Given the description of an element on the screen output the (x, y) to click on. 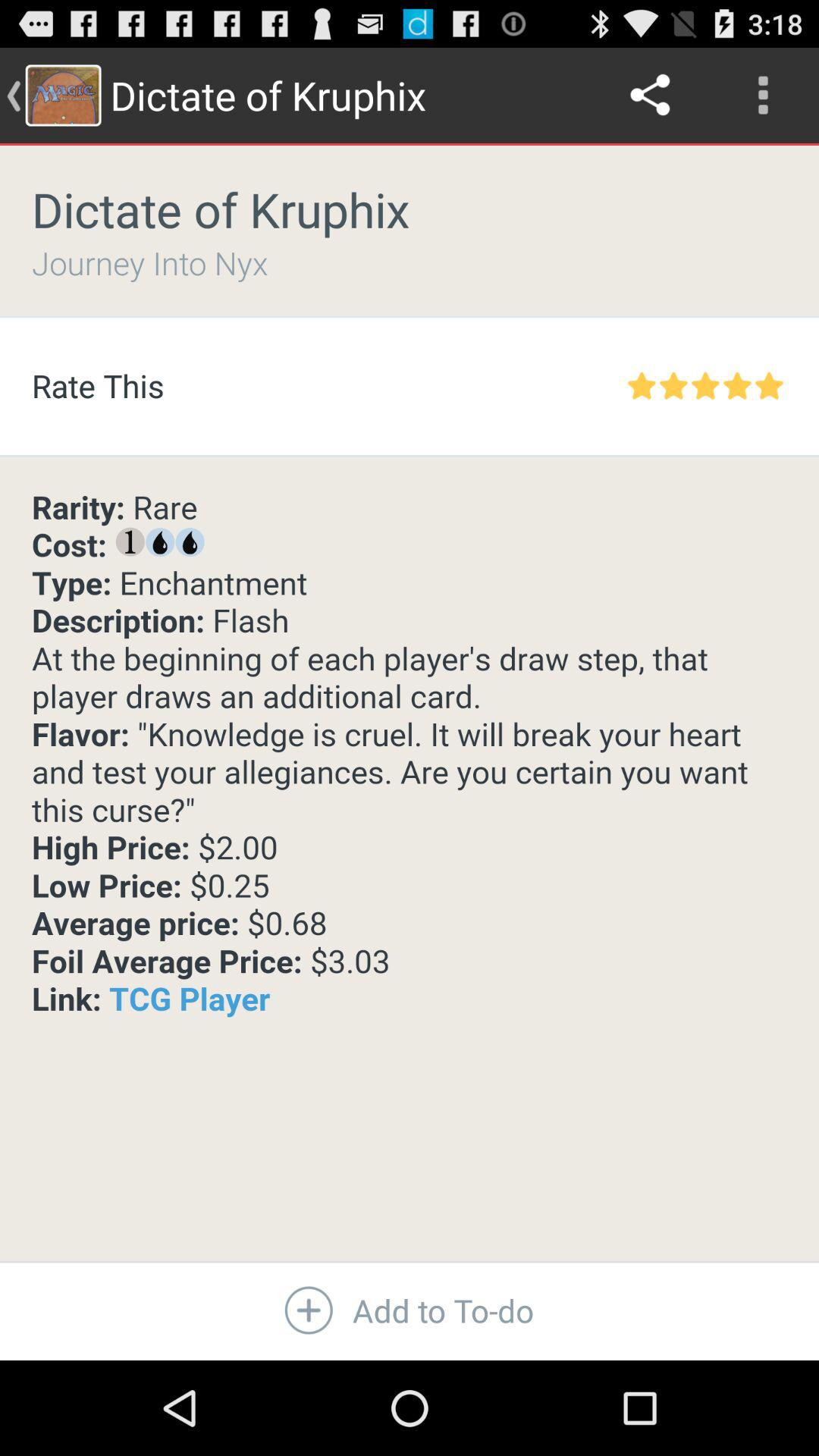
choose the item at the center (409, 753)
